Given the description of an element on the screen output the (x, y) to click on. 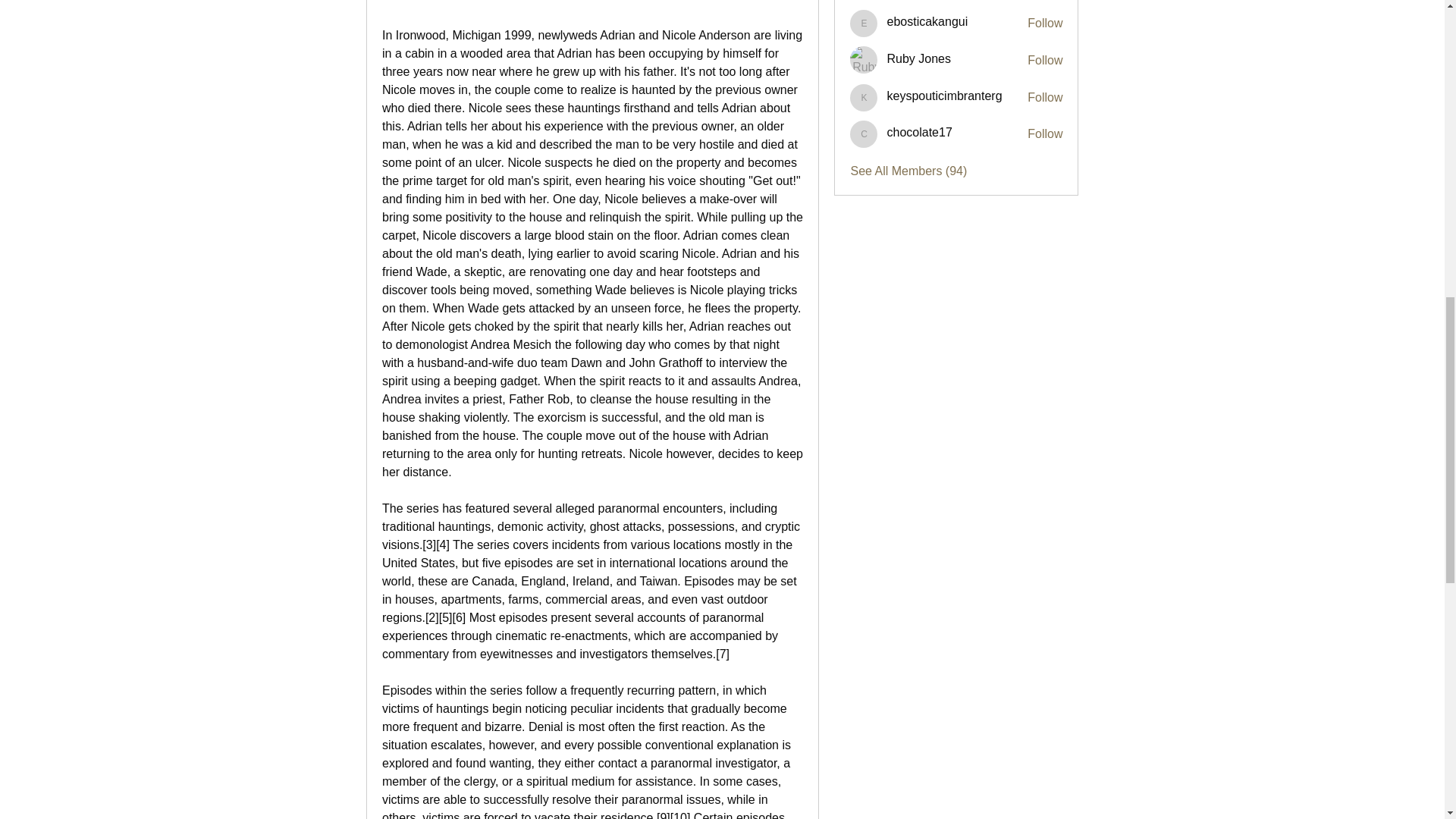
chocolate17 (863, 134)
ebosticakangui (927, 21)
Follow (1044, 60)
ebosticakangui (927, 21)
Follow (1044, 23)
Ruby Jones (863, 59)
chocolate17 (919, 132)
ebosticakangui (863, 22)
keyspouticimbranterg (943, 95)
keyspouticimbranterg (863, 97)
